Given the description of an element on the screen output the (x, y) to click on. 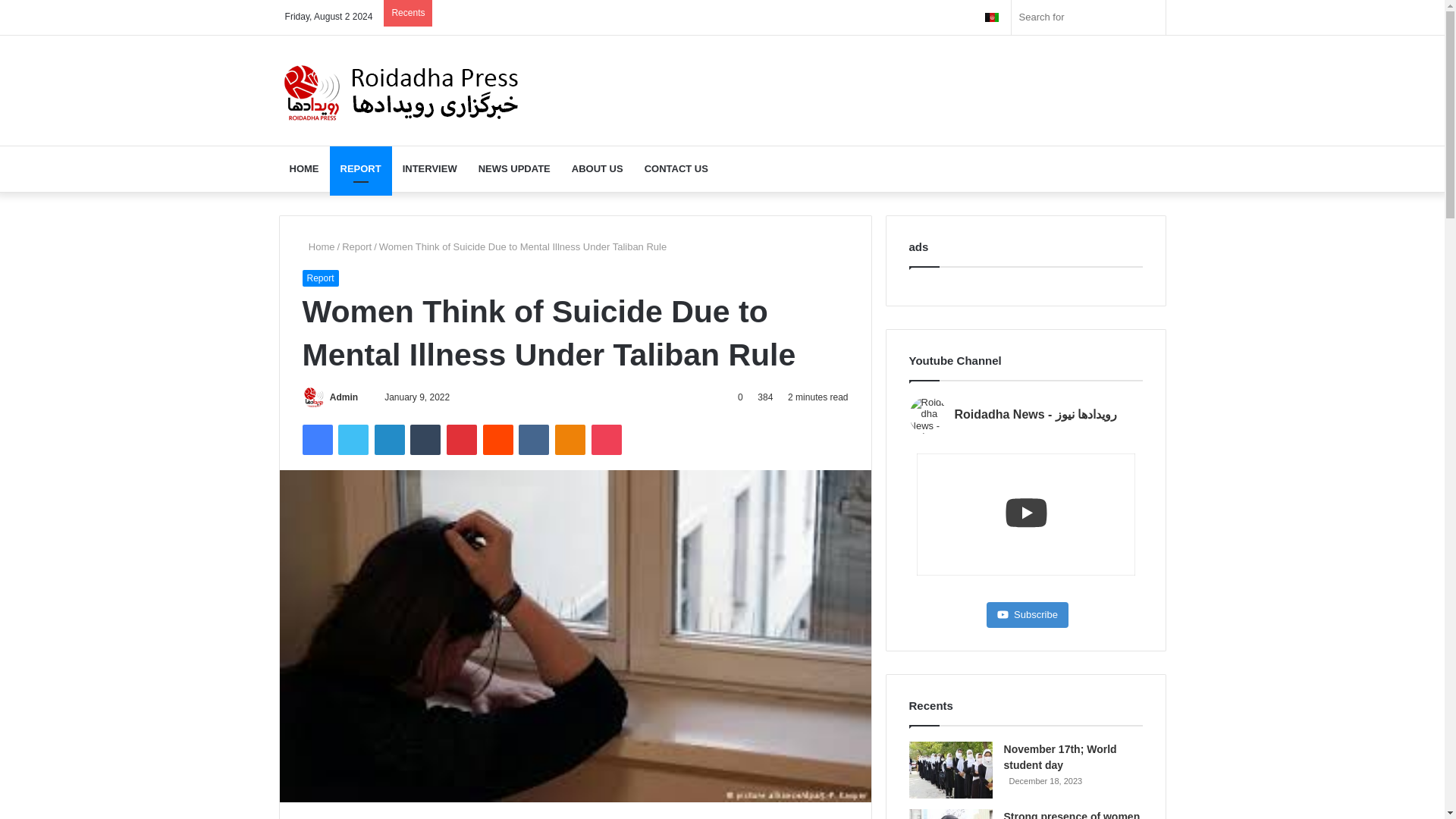
Tumblr (425, 440)
NEWS UPDATE (513, 167)
Tumblr (425, 440)
HOME (304, 167)
Pinterest (461, 440)
Odnoklassniki (569, 440)
Facebook (316, 440)
LinkedIn (389, 440)
VKontakte (533, 440)
Admin (344, 397)
Report (319, 278)
Pocket (606, 440)
Admin (344, 397)
Pinterest (461, 440)
Report (356, 246)
